Given the description of an element on the screen output the (x, y) to click on. 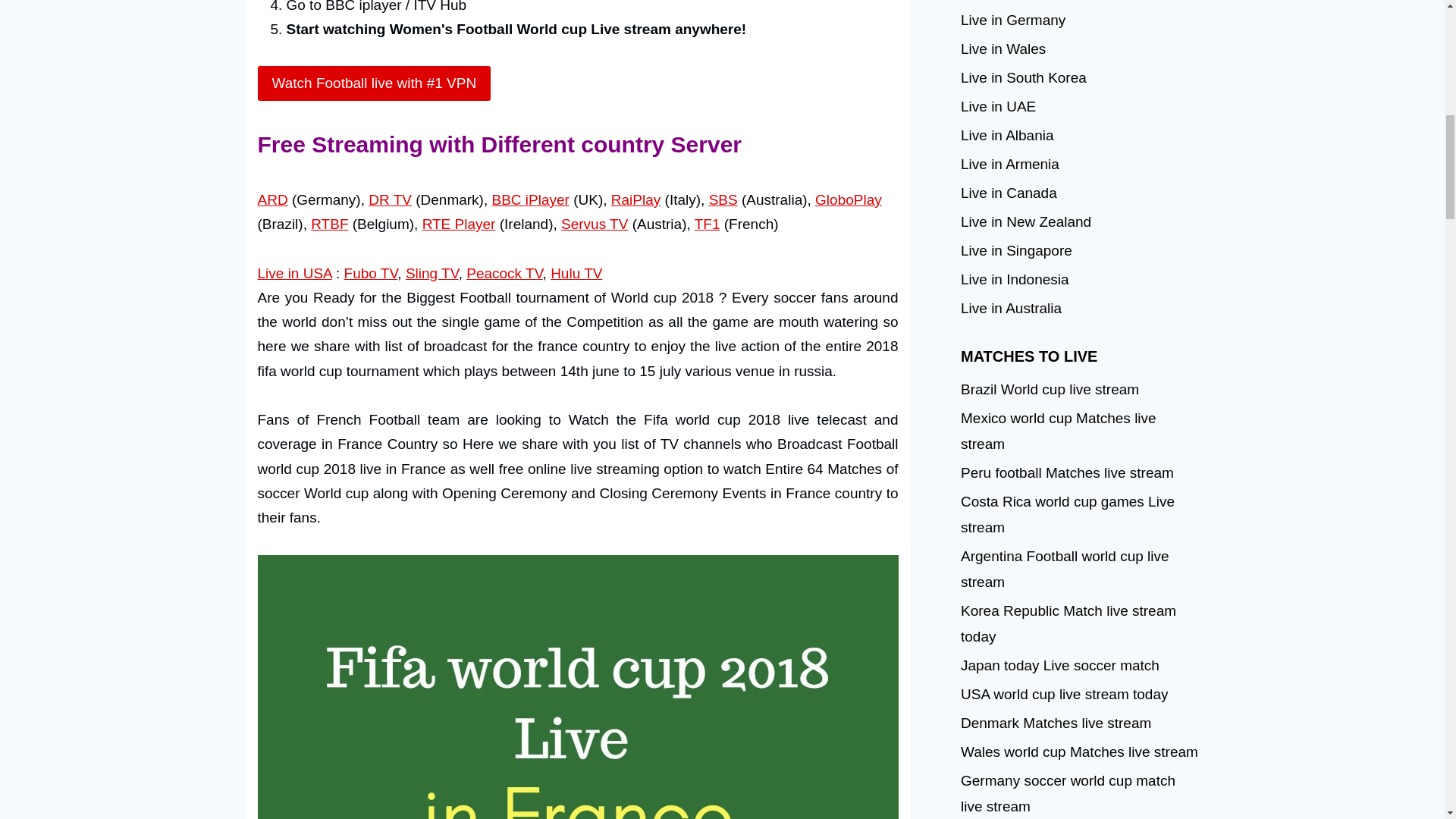
Fifa world cup live on Fubo TV (370, 273)
sling tv football world cup stream (432, 273)
RTBF (329, 223)
RaiPlay (636, 199)
ARD (272, 199)
GloboPlay (848, 199)
SBS (723, 199)
DR TV (390, 199)
BBC iPlayer (530, 199)
